Given the description of an element on the screen output the (x, y) to click on. 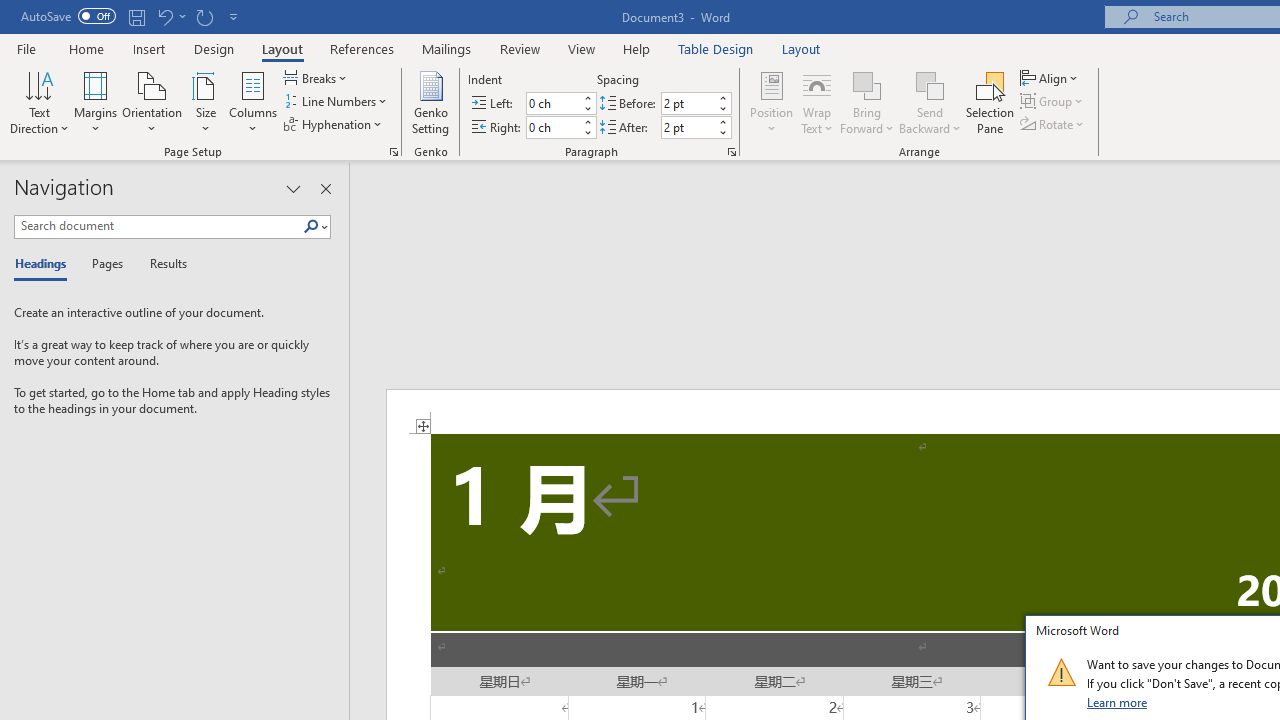
Align (1051, 78)
Rotate (1053, 124)
Group (1053, 101)
Size (205, 102)
Learn more (1118, 702)
Send Backward (930, 102)
Bring Forward (867, 84)
Position (771, 102)
